Given the description of an element on the screen output the (x, y) to click on. 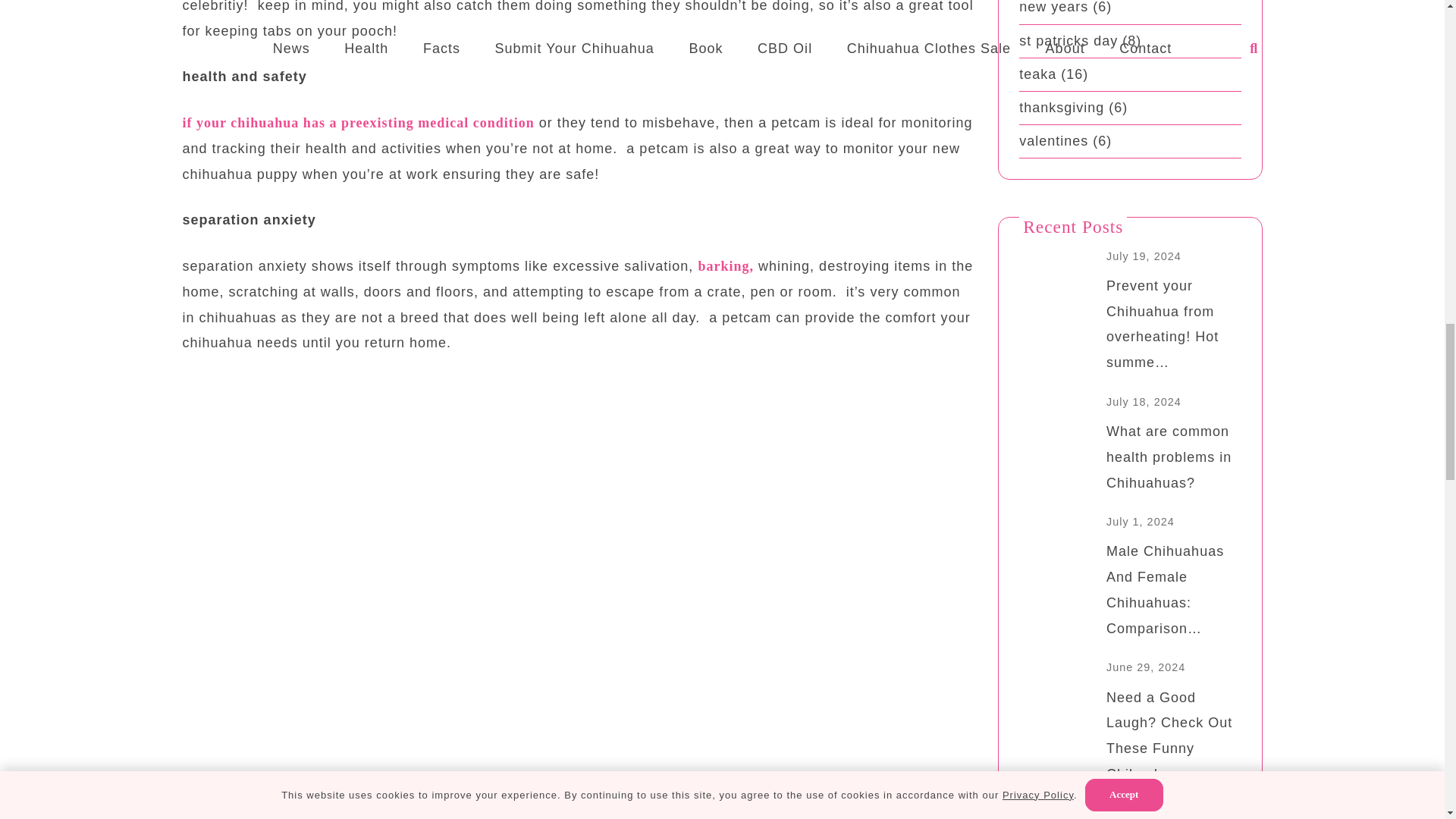
if your chihuahua has a preexisting medical condition (358, 122)
barking, (725, 265)
